Given the description of an element on the screen output the (x, y) to click on. 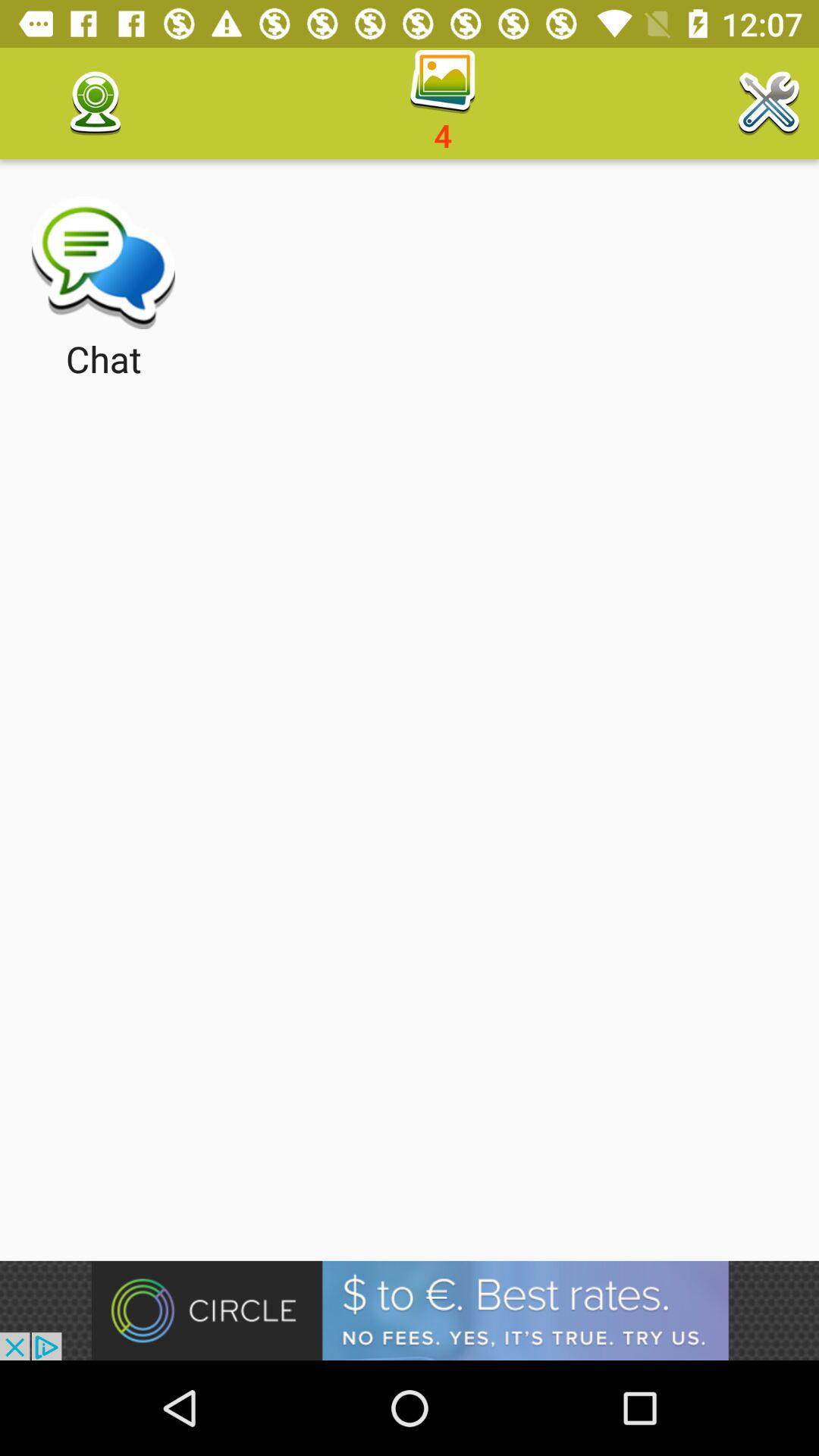
view advertisement (409, 1310)
